Given the description of an element on the screen output the (x, y) to click on. 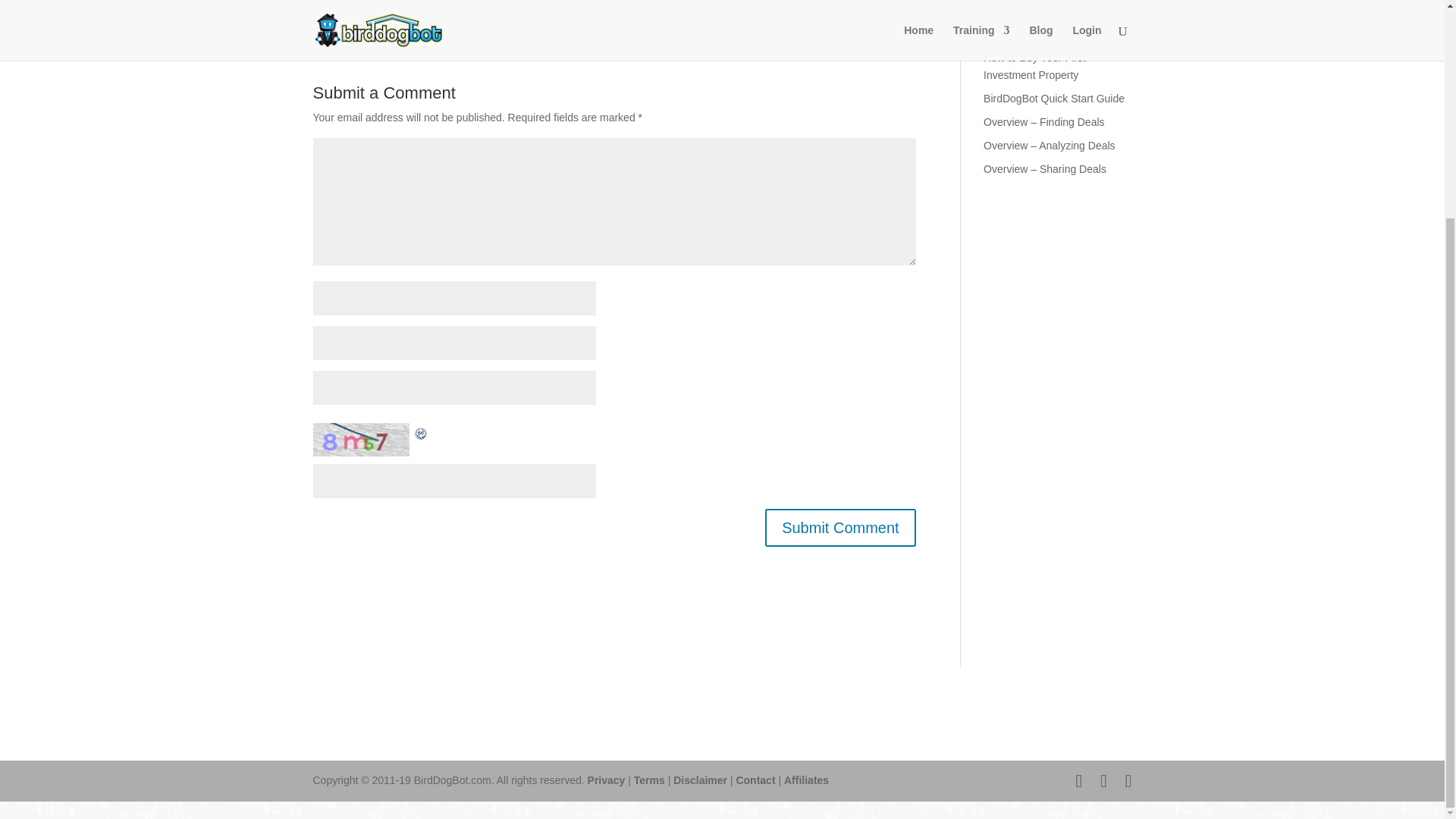
How to Buy Your First Investment Property (1035, 66)
Download Now! (1057, 2)
Submit Comment (840, 527)
Refresh (420, 431)
CAPTCHA (362, 439)
BirdDogBot Quick Start Guide (1054, 98)
Submit Comment (840, 527)
